Given the description of an element on the screen output the (x, y) to click on. 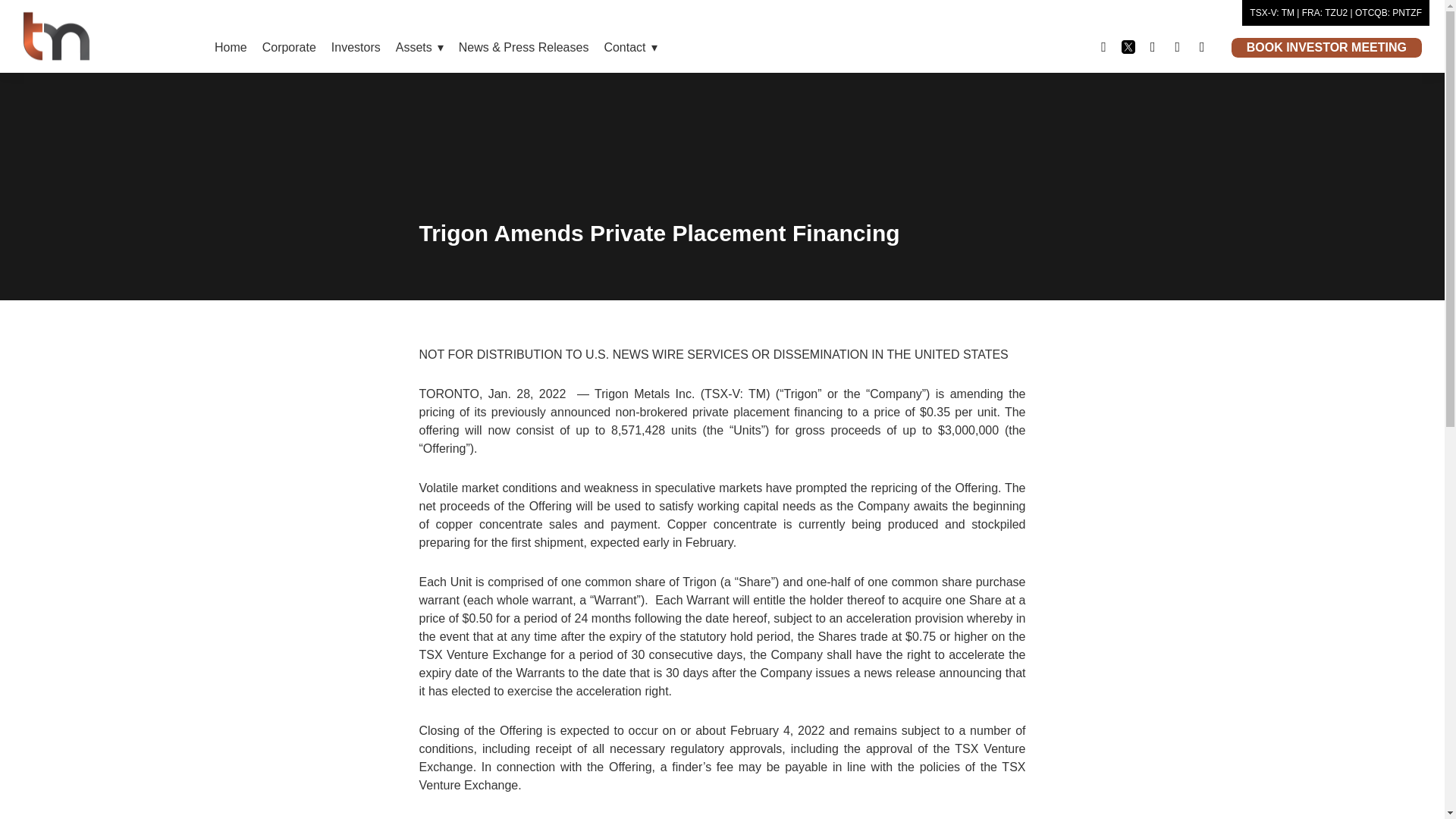
Twitter (1128, 46)
instagram (1152, 46)
Contact (629, 47)
Facebook (1103, 46)
linkedin (1177, 46)
Home (230, 47)
Corporate (288, 47)
youtube (1201, 46)
facebook (1103, 46)
